Given the description of an element on the screen output the (x, y) to click on. 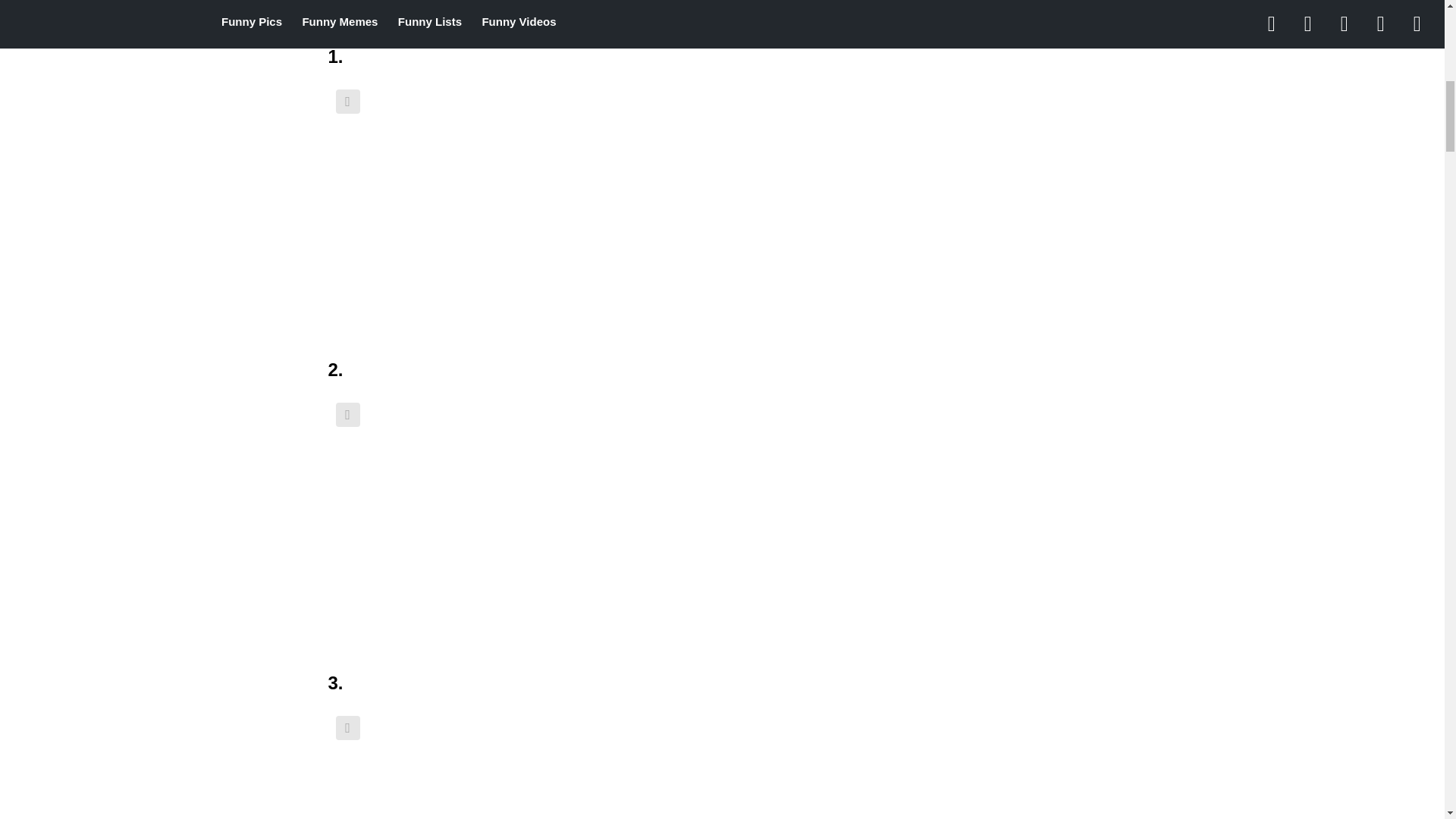
Share (346, 101)
Share (346, 727)
Share (346, 414)
